Given the description of an element on the screen output the (x, y) to click on. 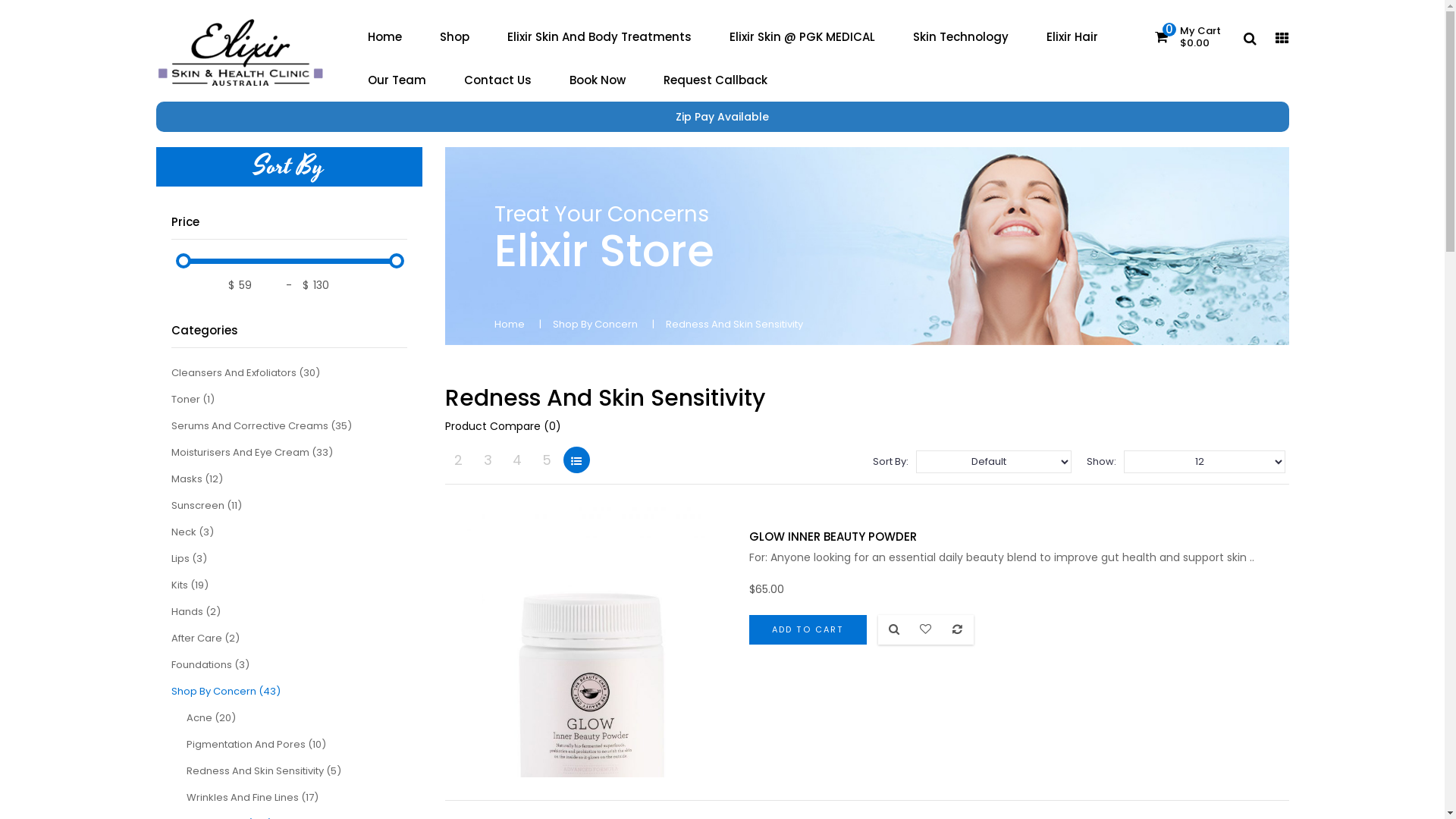
Elixir Skin @ PGK MEDICAL Element type: text (801, 36)
Foundations (3) Element type: text (210, 664)
Add to Wish List Element type: text (925, 629)
Shop By Concern Element type: text (594, 323)
Toner (1) Element type: text (192, 399)
Redness And Skin Sensitivity (5) Element type: text (263, 770)
Request Callback Element type: text (715, 78)
2 Element type: text (457, 459)
Contact Us Element type: text (496, 78)
Hands (2) Element type: text (195, 611)
Elixir Skin And Body Treatments Element type: text (599, 36)
Our Team Element type: text (396, 78)
ADD TO CART Element type: text (807, 629)
Book Now Element type: text (597, 78)
Acne (20) Element type: text (210, 717)
Cleansers And Exfoliators (30) Element type: text (245, 372)
Wrinkles And Fine Lines (17) Element type: text (252, 797)
Quick View Element type: text (894, 629)
0
My Cart
$0.00 Element type: text (1187, 37)
Kits (19) Element type: text (189, 584)
GLOW INNER BEAUTY POWDER Element type: text (832, 536)
Home Element type: text (384, 36)
Pigmentation And Pores (10) Element type: text (256, 744)
Skin Technology Element type: text (959, 36)
4 Element type: text (516, 459)
Shop By Concern (43) Element type: text (225, 691)
Masks (12) Element type: text (196, 478)
Lips (3) Element type: text (189, 558)
Serums And Corrective Creams (35) Element type: text (261, 425)
Sunscreen (11) Element type: text (206, 505)
Product Compare (0) Element type: text (502, 425)
GLOW INNER BEAUTY POWDER Element type: hover (591, 642)
Moisturisers And Eye Cream (33) Element type: text (251, 452)
3 Element type: text (487, 459)
Elixir Skin Element type: hover (241, 56)
Shop Element type: text (453, 36)
After Care (2) Element type: text (205, 637)
Add to Compare Element type: text (957, 629)
5 Element type: text (546, 459)
Home Element type: text (509, 323)
Redness And Skin Sensitivity Element type: text (734, 323)
Neck (3) Element type: text (192, 531)
Elixir Hair Element type: text (1071, 36)
